Given the description of an element on the screen output the (x, y) to click on. 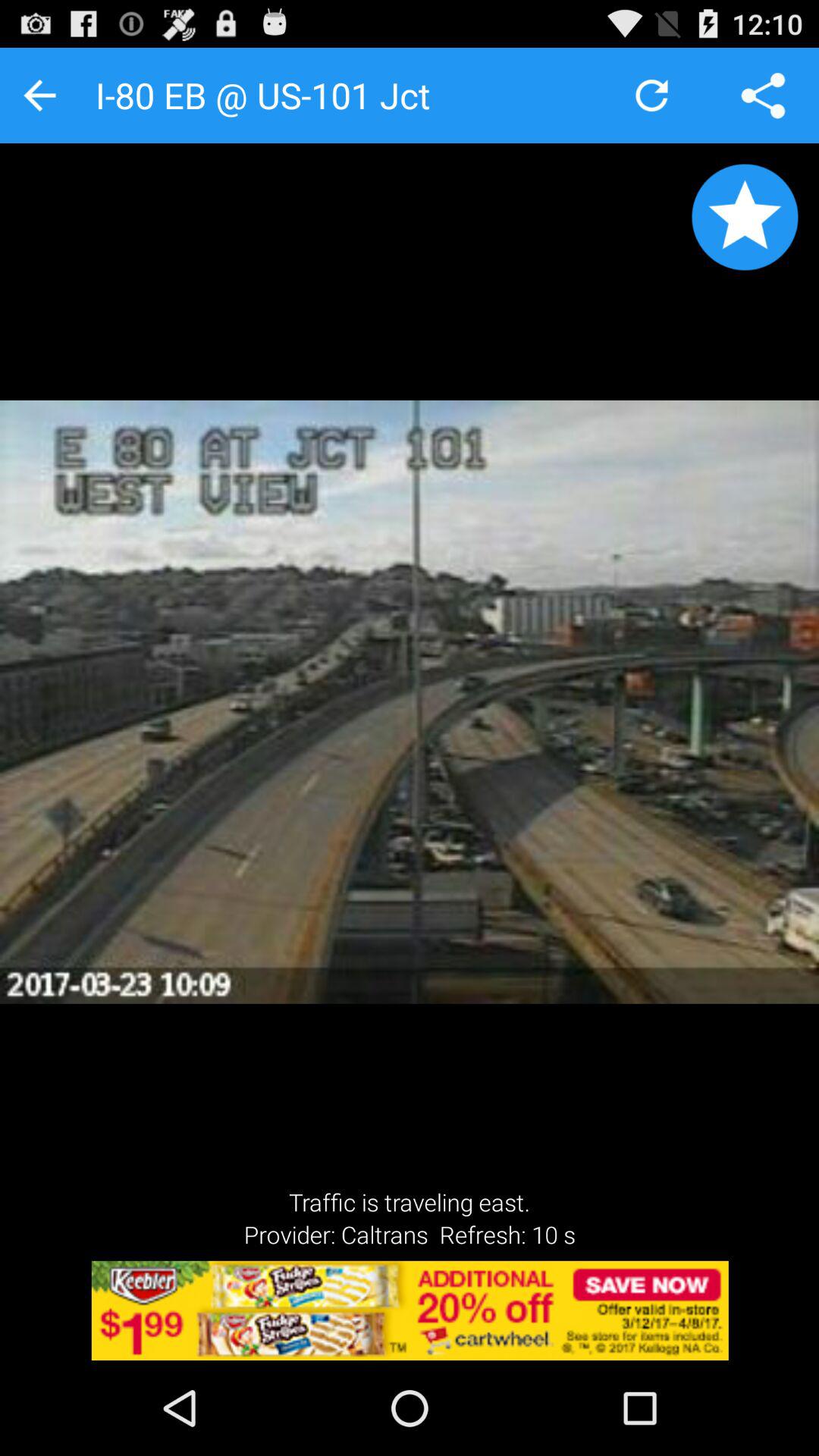
reload the page (651, 95)
